Given the description of an element on the screen output the (x, y) to click on. 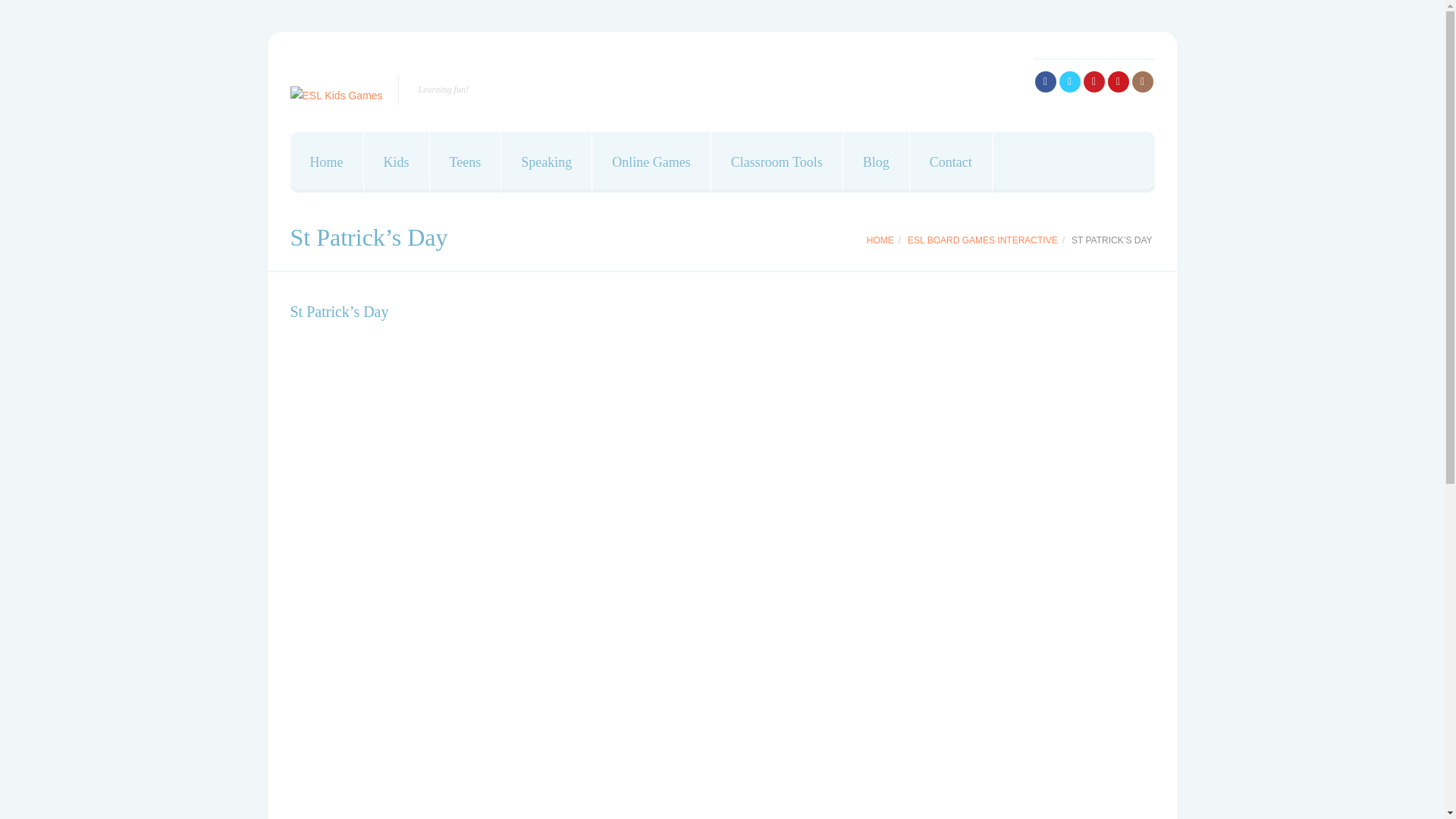
Teens (465, 161)
Kids (396, 161)
Home (325, 161)
Online Games (651, 161)
Learning fun! (335, 95)
Speaking (546, 161)
